Given the description of an element on the screen output the (x, y) to click on. 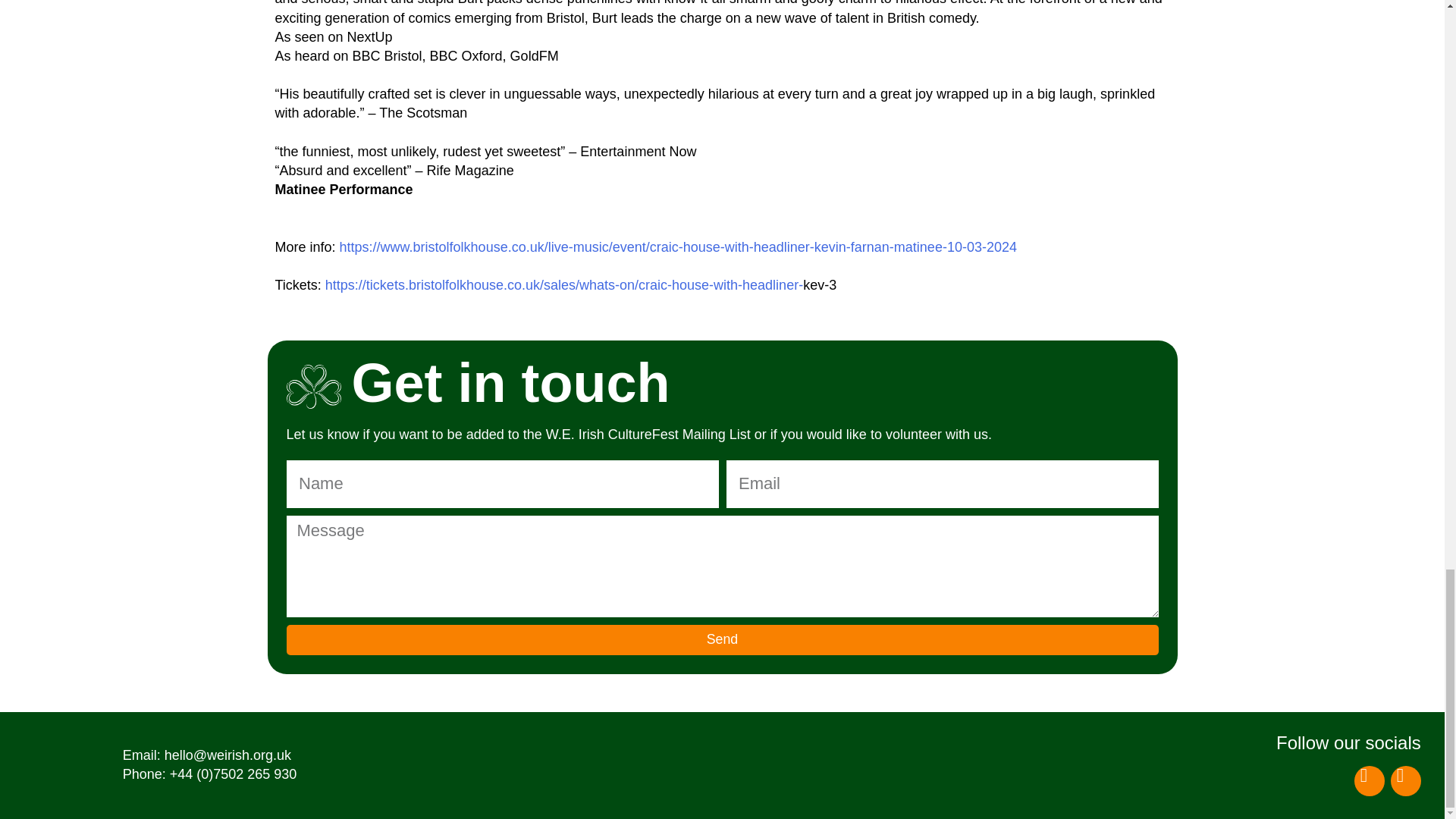
Facebook (1369, 780)
Instagram (1405, 780)
Send (722, 639)
